Given the description of an element on the screen output the (x, y) to click on. 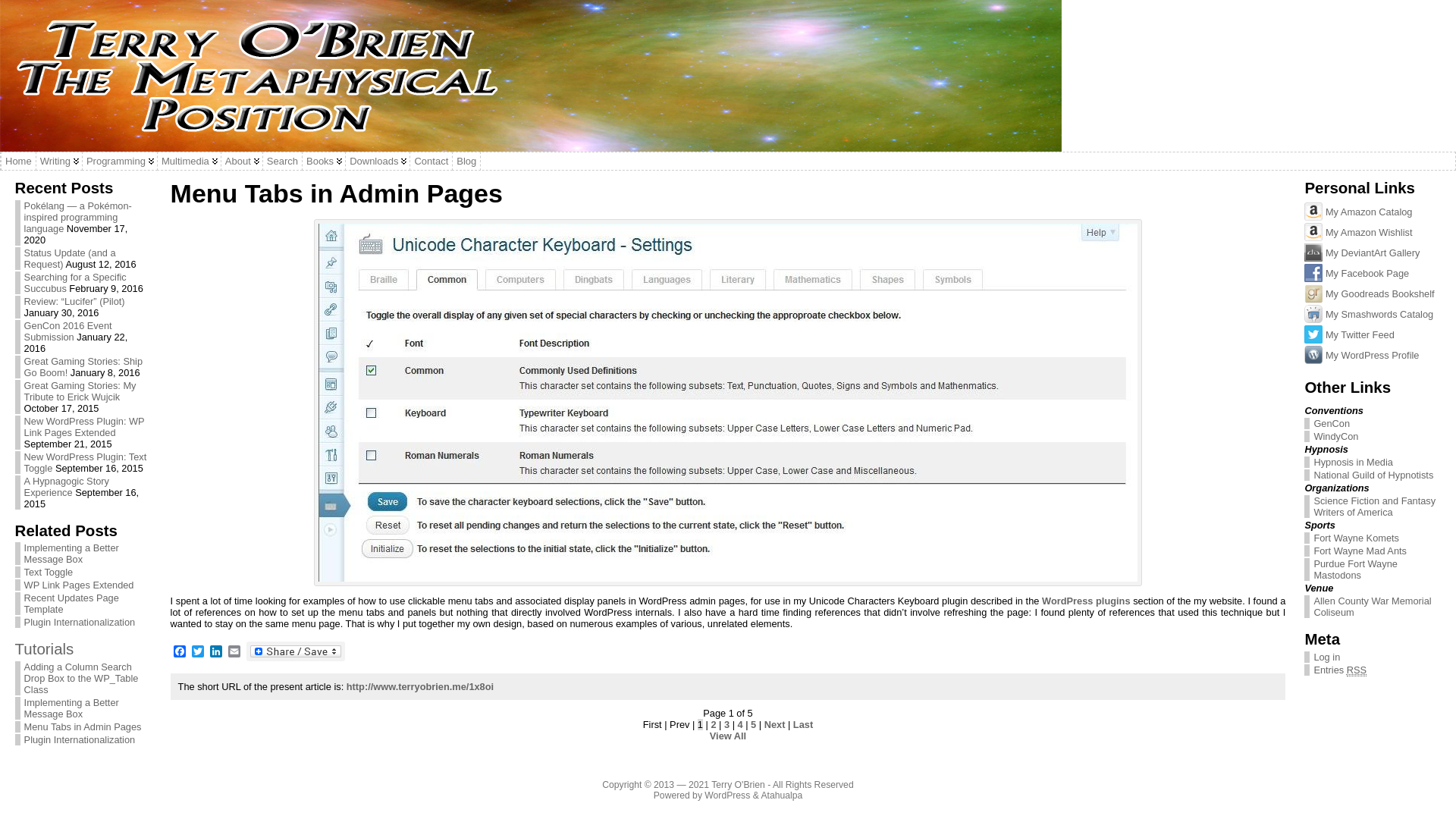
My Amazon Wishlist (1313, 231)
My Goodreads Bookshelf (1313, 293)
Menu Tabs in Admin Pages (82, 726)
Plugin Internationalization (79, 739)
My DeviantArt Gallery (1313, 252)
My Amazon Catalog (1313, 211)
My Facebook Page (1313, 272)
Writing (58, 160)
LinkedIn (215, 651)
Email (234, 651)
